Given the description of an element on the screen output the (x, y) to click on. 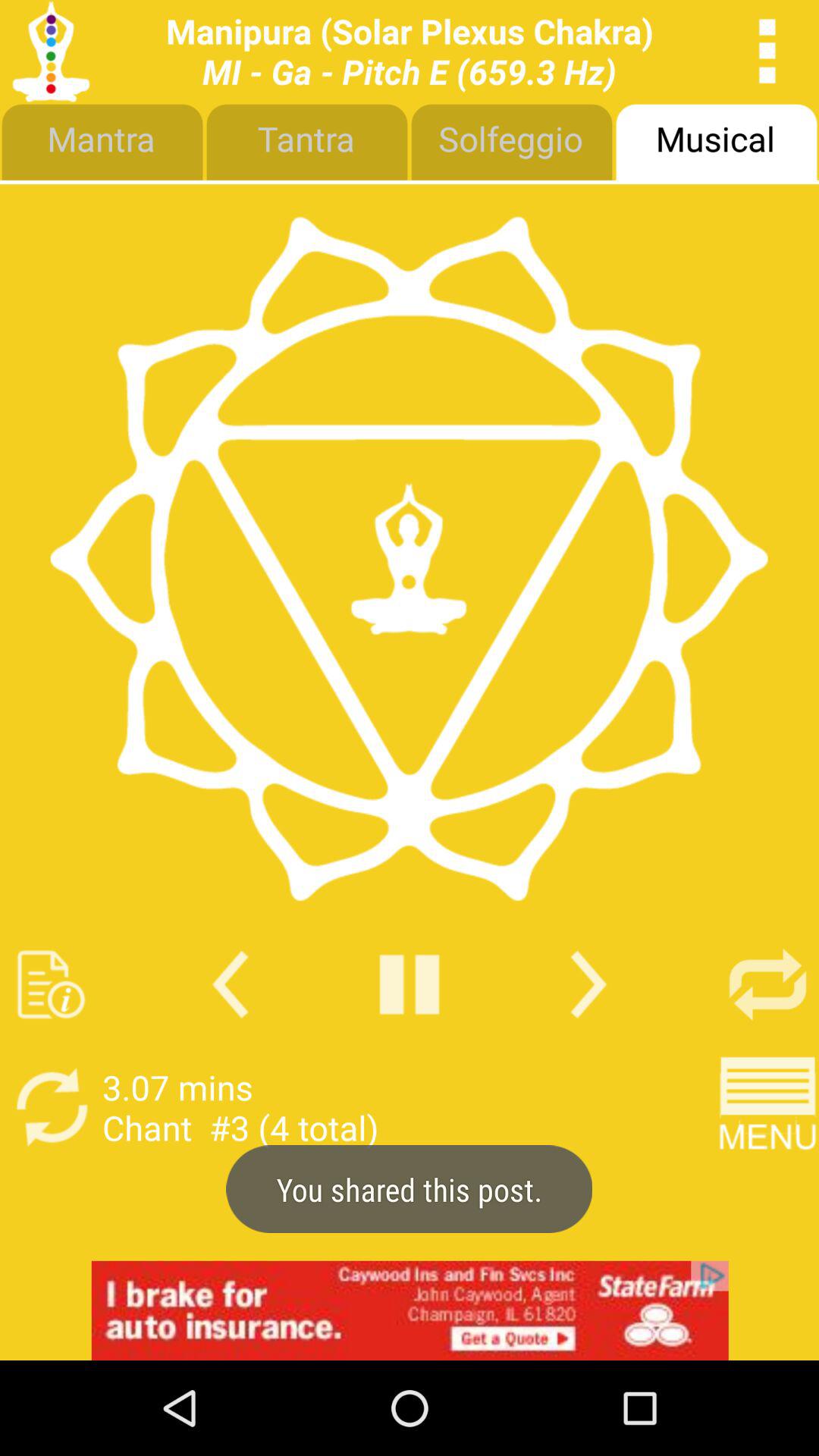
play (409, 984)
